Given the description of an element on the screen output the (x, y) to click on. 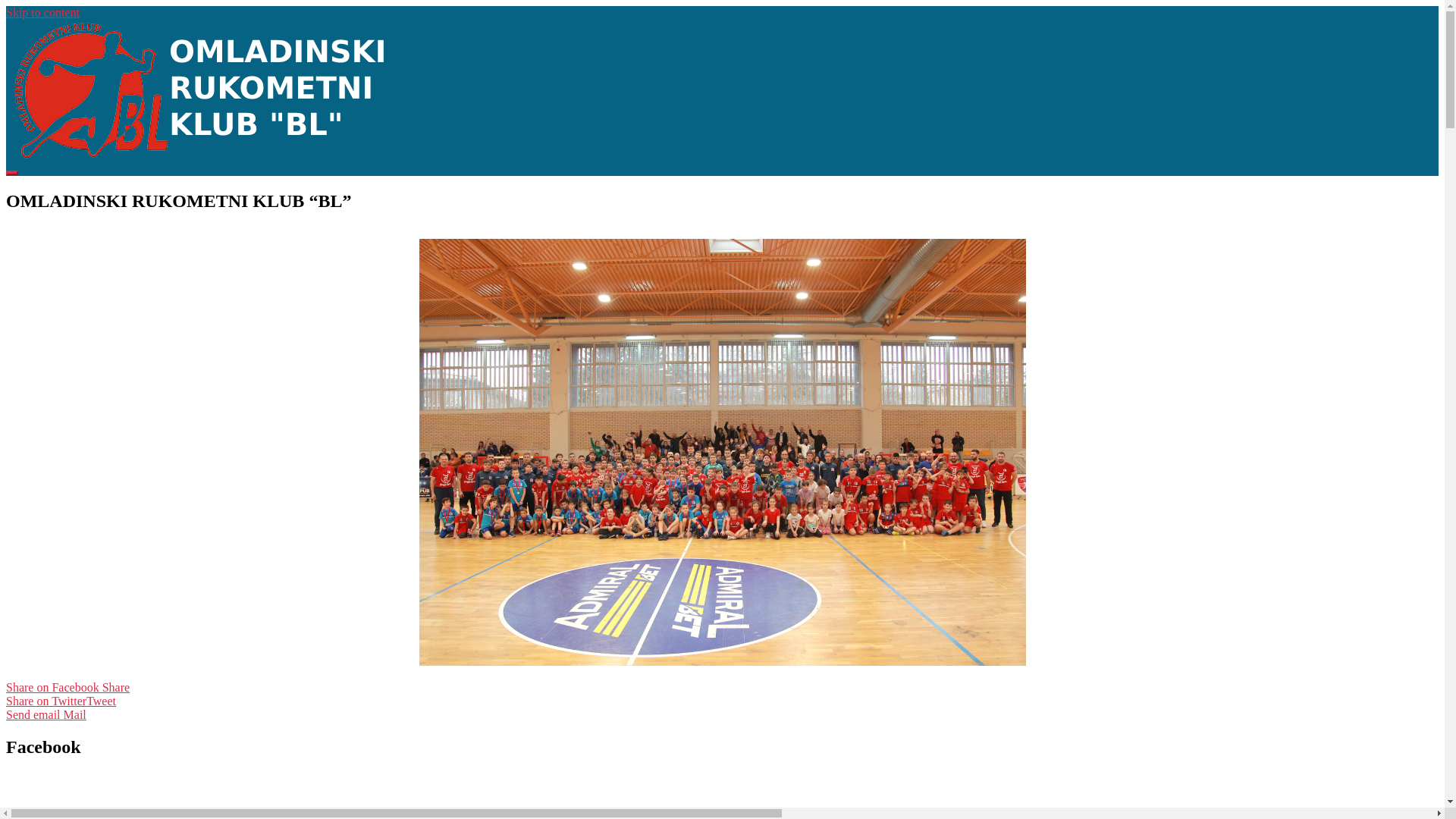
Skip to content Element type: text (42, 12)
Share on TwitterTweet Element type: text (722, 701)
Send email Mail Element type: text (722, 714)
Share on Facebook Share Element type: text (722, 687)
